Given the description of an element on the screen output the (x, y) to click on. 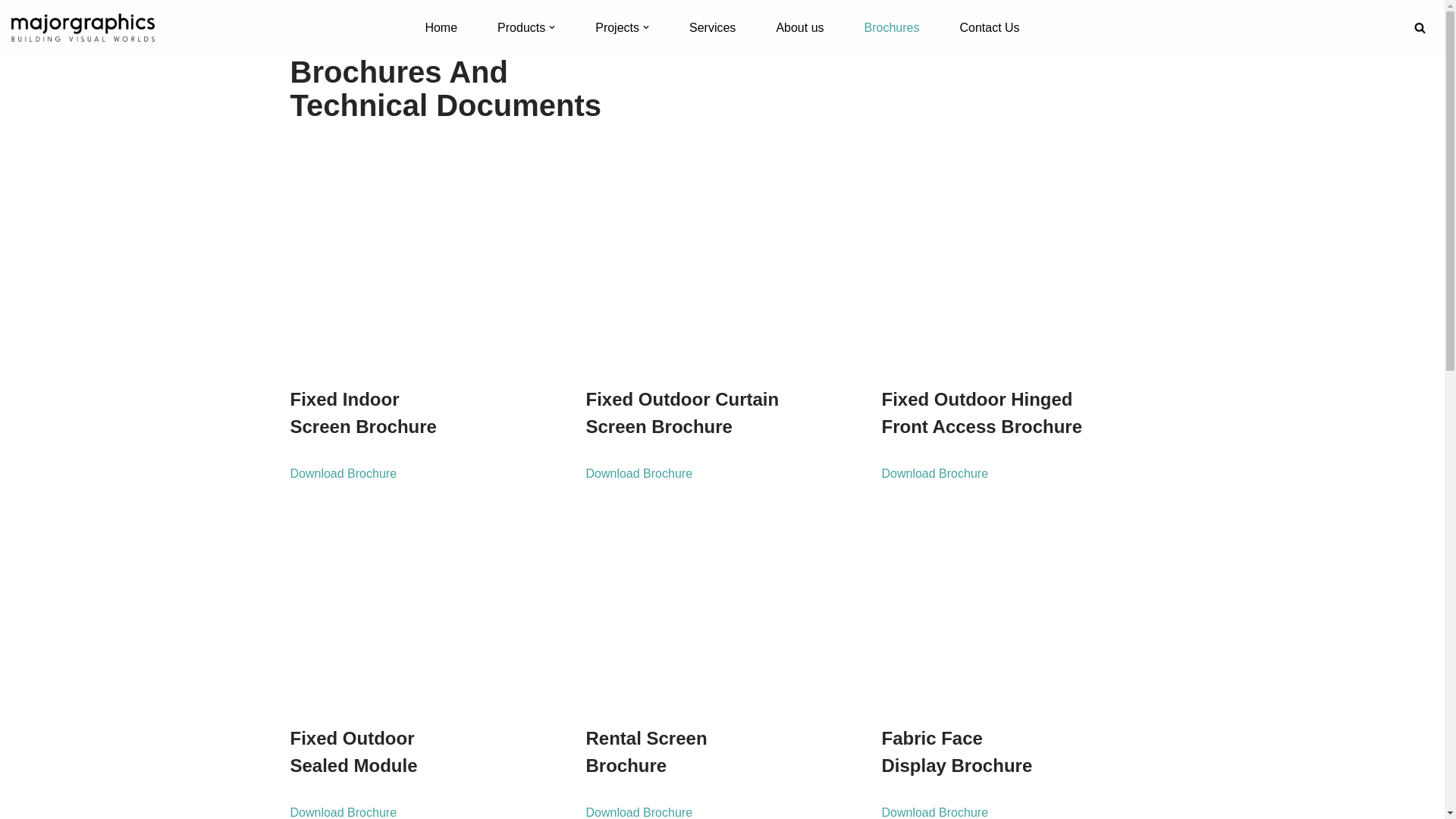
Download Brochure Element type: text (638, 473)
Skip to content Element type: text (11, 31)
Services Element type: text (712, 27)
Contact Us Element type: text (989, 27)
Projects Element type: text (617, 27)
Major Graphics Element type: hover (82, 27)
Brochures Element type: text (891, 27)
About us Element type: text (799, 27)
Download Brochure Element type: text (342, 473)
Products Element type: text (521, 27)
Download Brochure Element type: text (934, 473)
Home Element type: text (440, 27)
